Given the description of an element on the screen output the (x, y) to click on. 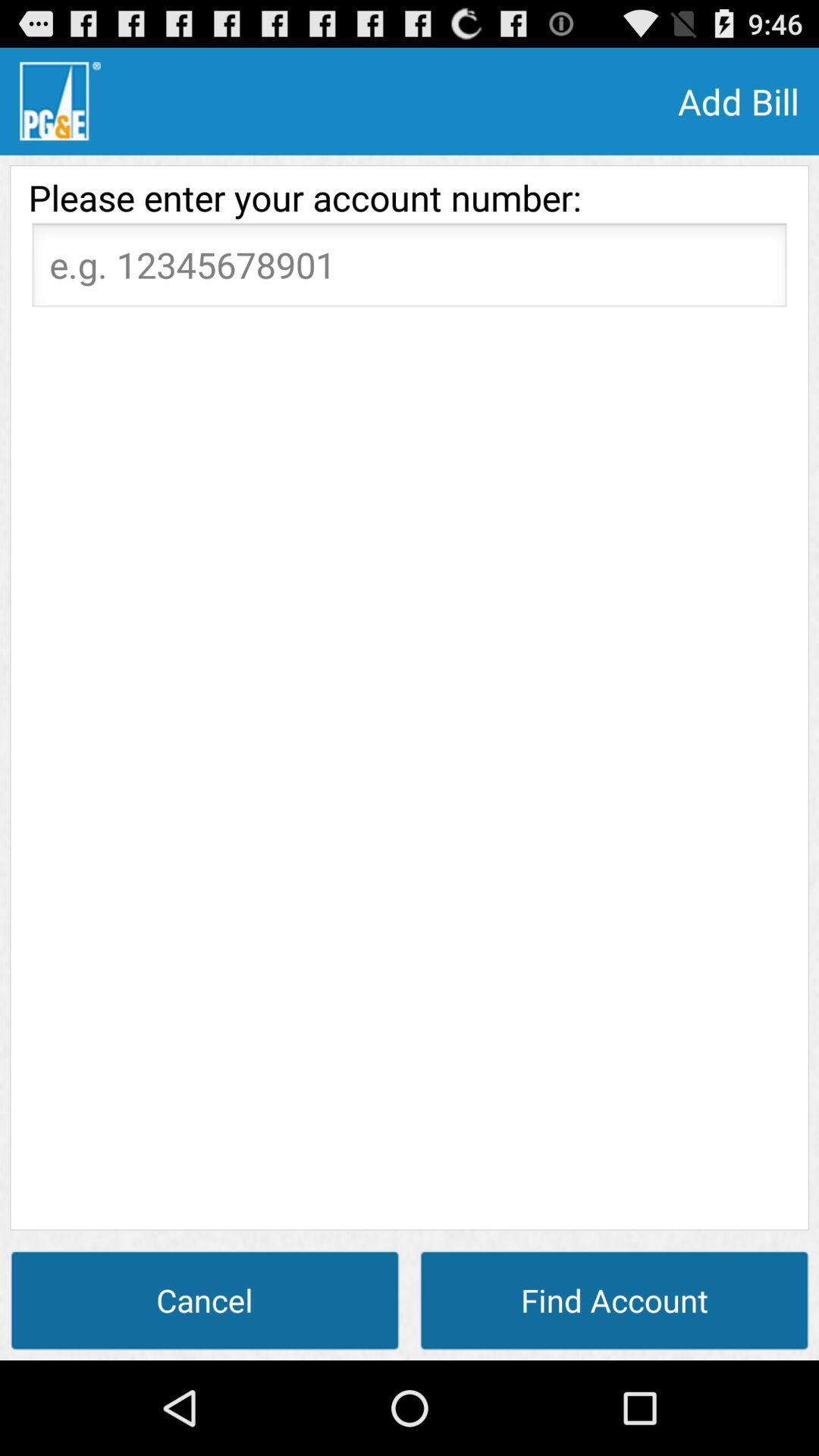
flip until cancel icon (204, 1300)
